Given the description of an element on the screen output the (x, y) to click on. 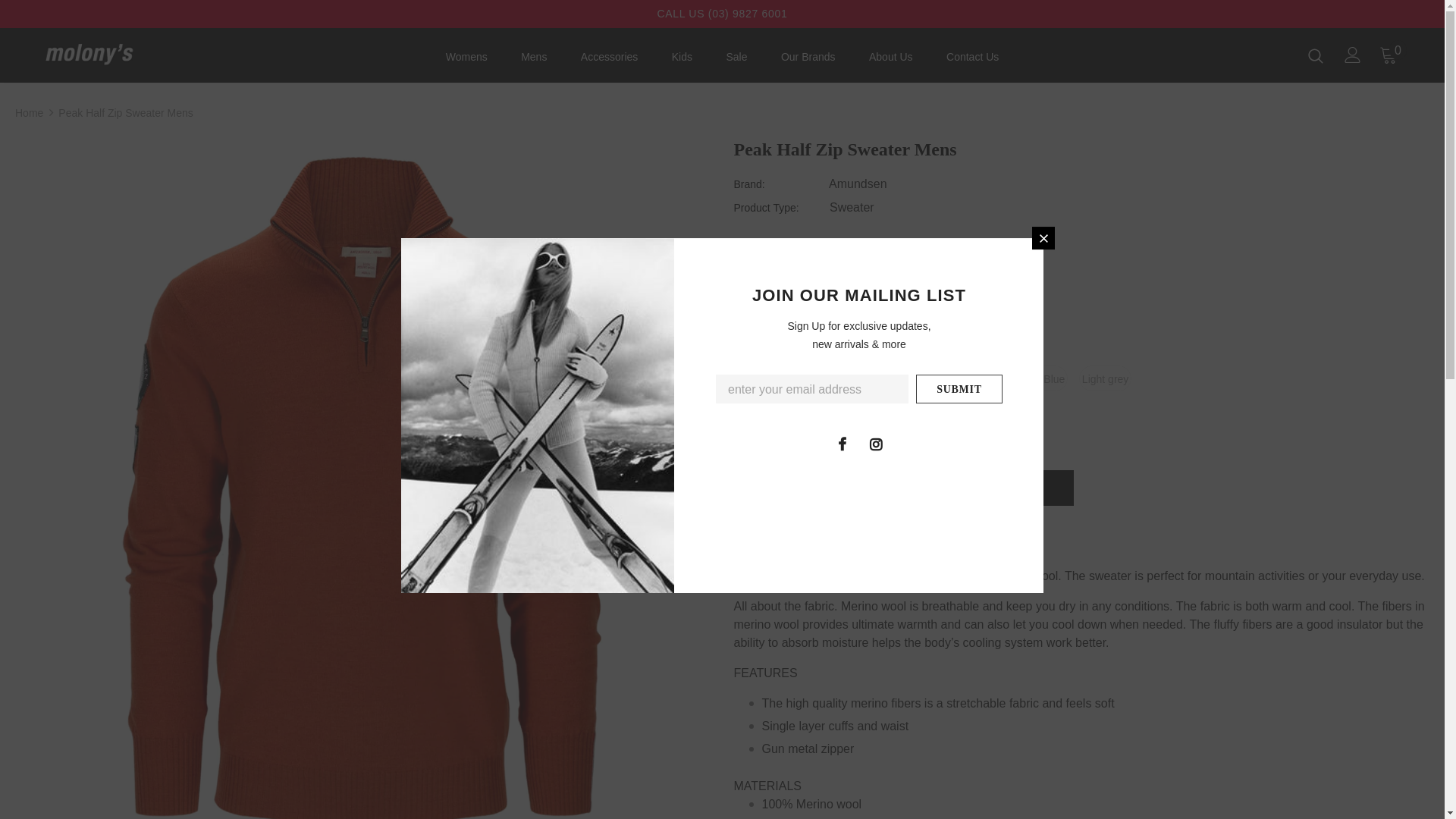
CALL US (03) 9827 6001 Element type: text (721, 13)
Close Element type: hover (1043, 237)
User Icon Element type: hover (1352, 53)
0 Element type: text (1388, 54)
Mens Element type: text (533, 60)
Submit Element type: text (959, 388)
Contact Us Element type: text (972, 60)
Add to Cart Element type: text (904, 487)
Kids Element type: text (681, 60)
Our Brands Element type: text (808, 60)
Sale Element type: text (735, 60)
About Us Element type: text (891, 60)
Home Element type: text (29, 112)
Accessories Element type: text (608, 60)
Womens Element type: text (466, 60)
Search Icon Element type: hover (1315, 54)
Amundsen Element type: text (857, 183)
Facebook Element type: hover (841, 443)
Instagram Element type: hover (875, 443)
Logo Element type: hover (134, 53)
